Given the description of an element on the screen output the (x, y) to click on. 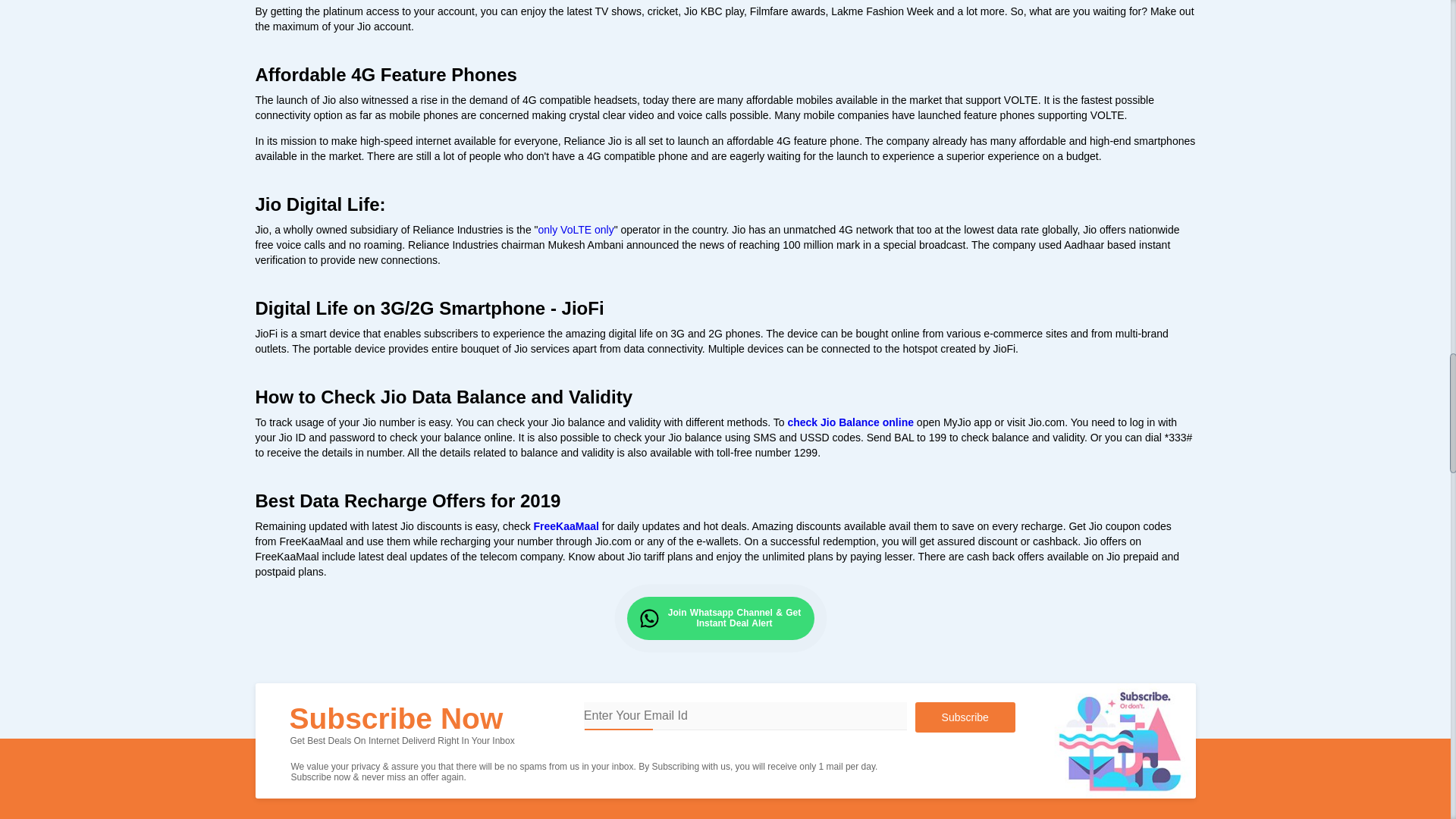
Subscribe (964, 716)
